Given the description of an element on the screen output the (x, y) to click on. 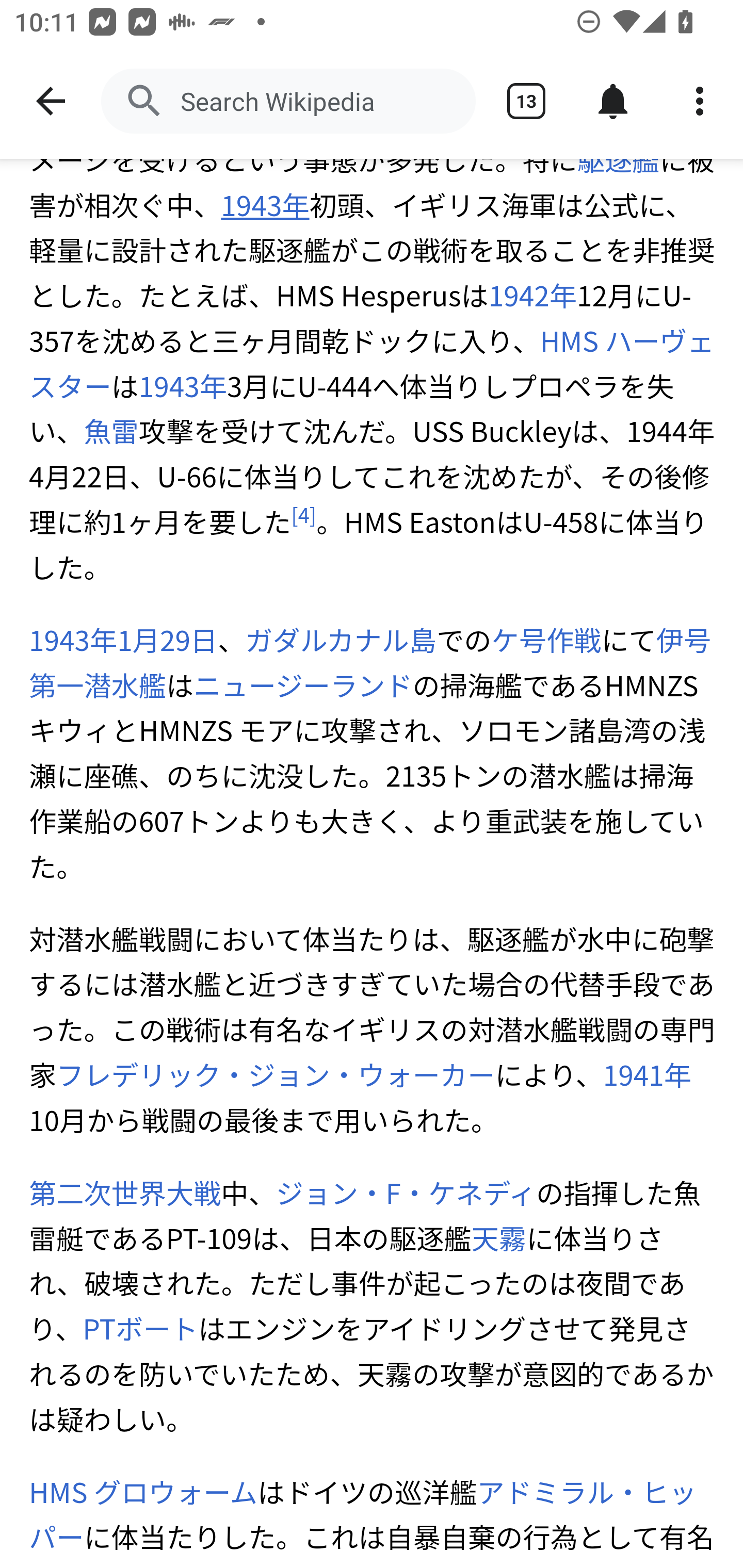
第二次世界大戦 (125, 44)
イギリス海軍 (358, 44)
Show tabs 13 (525, 100)
Notifications (612, 100)
Navigate up (50, 101)
More options (699, 101)
Search Wikipedia (288, 100)
駆逐艦 (618, 158)
1943年 (265, 204)
1942年 (532, 296)
HMS ハーヴェスター (371, 363)
1943年 (182, 386)
魚雷 (110, 431)
[] [ 4 ] (304, 515)
1943年 (73, 639)
伊号第一潜水艦 (370, 662)
1月29日 (166, 639)
ガダルカナル島 (340, 639)
ケ号作戦 (547, 639)
ニュージーランド (303, 684)
フレデリック・ジョン・ウォーカー (275, 1074)
1941年 (646, 1074)
第二次世界大戦 (125, 1193)
ジョン・F・ケネディ (405, 1193)
天霧 (498, 1238)
PTボート (139, 1329)
HMS グロウォーム (142, 1491)
アドミラル・ヒッパー (363, 1513)
